Given the description of an element on the screen output the (x, y) to click on. 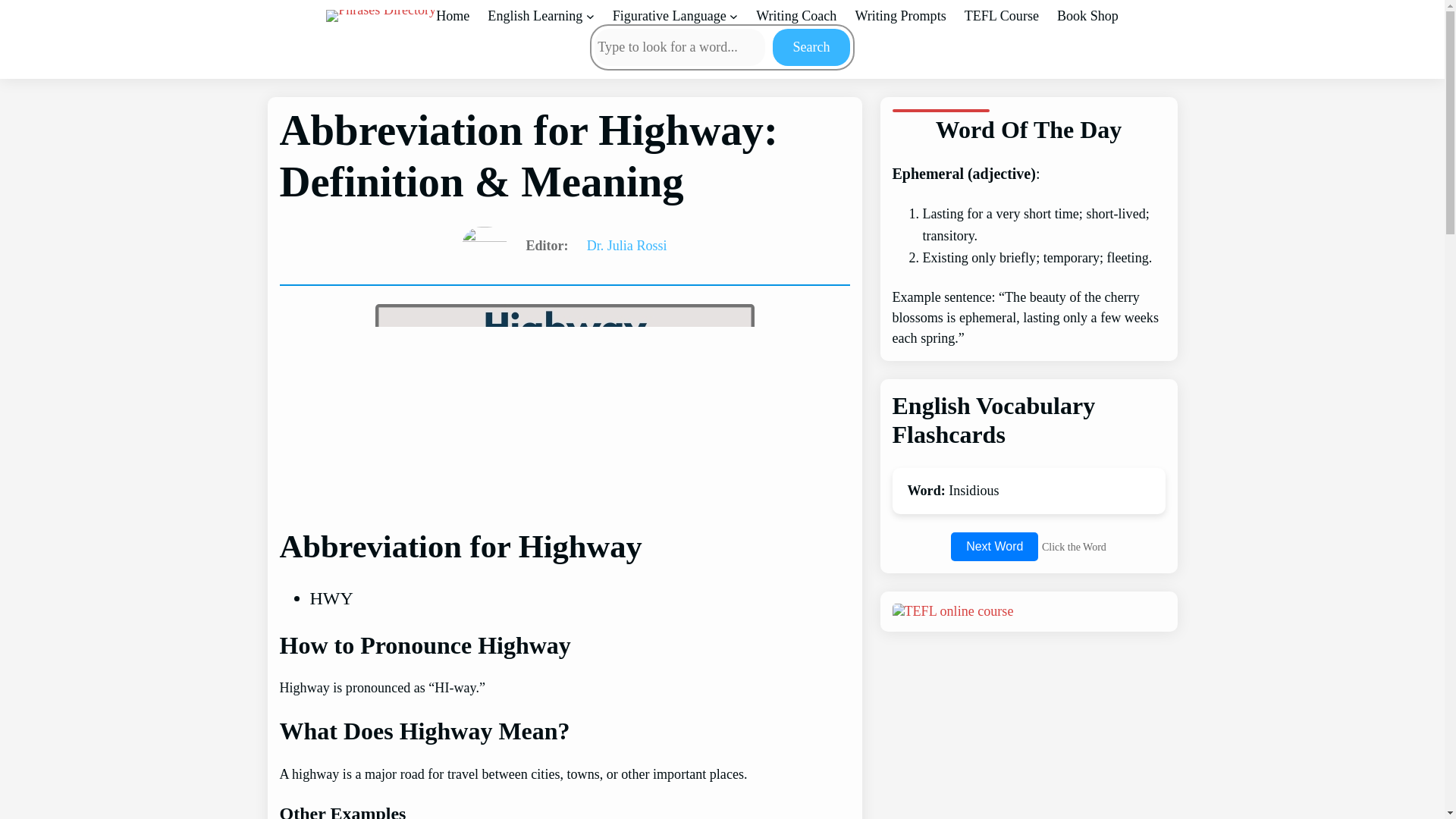
Home (451, 16)
Book Shop (1087, 16)
Dr. Julia Rossi (626, 245)
Writing Prompts (899, 16)
Search (810, 47)
Writing Coach (795, 16)
TEFL Course (1001, 16)
Figurative Language (669, 16)
English Learning (534, 16)
